Given the description of an element on the screen output the (x, y) to click on. 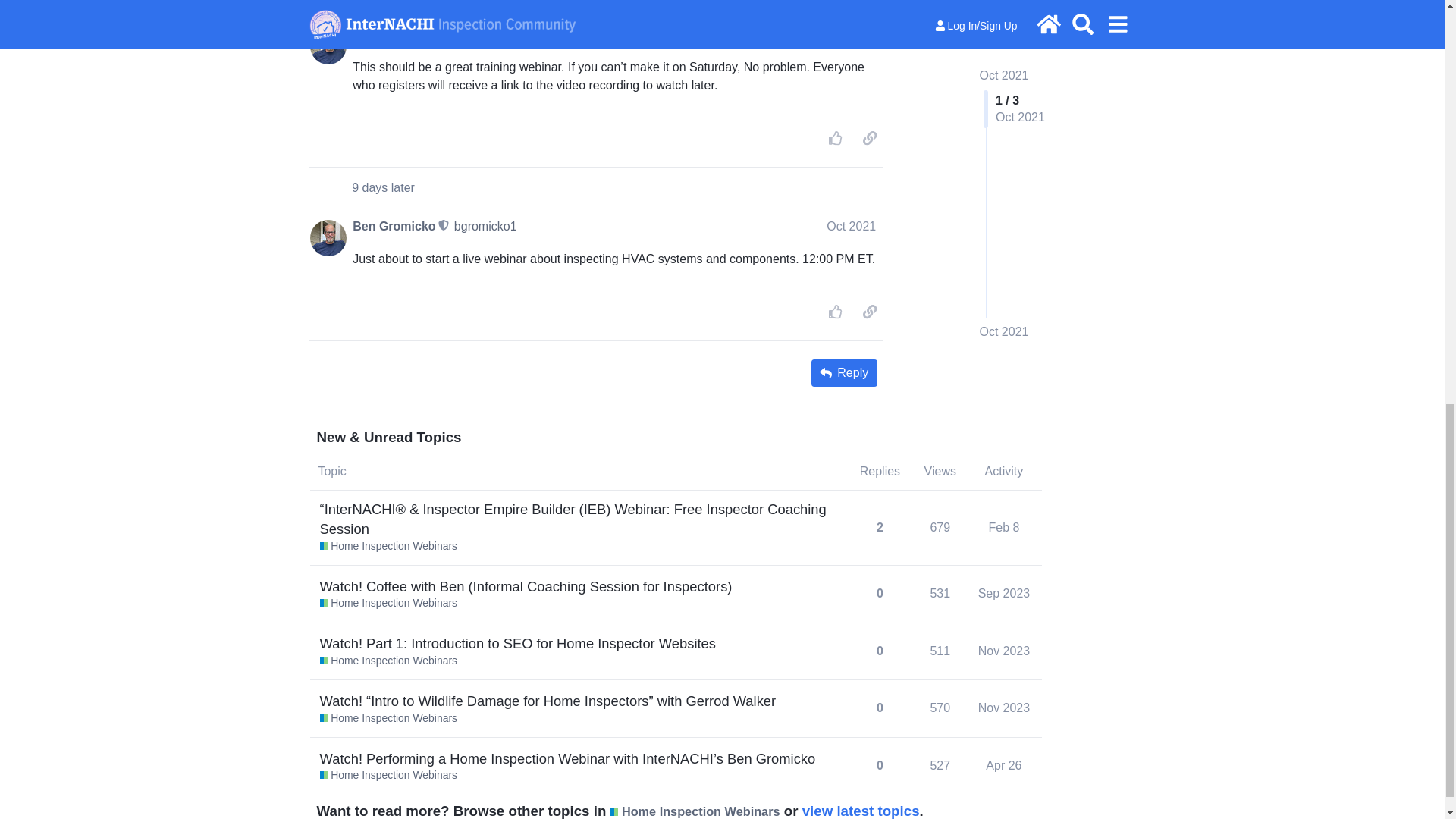
bgromicko1 (485, 33)
Ben Gromicko (393, 34)
Oct 2021 (851, 33)
Ben Gromicko (393, 226)
Oct 2021 (851, 226)
bgromicko1 (485, 226)
